Given the description of an element on the screen output the (x, y) to click on. 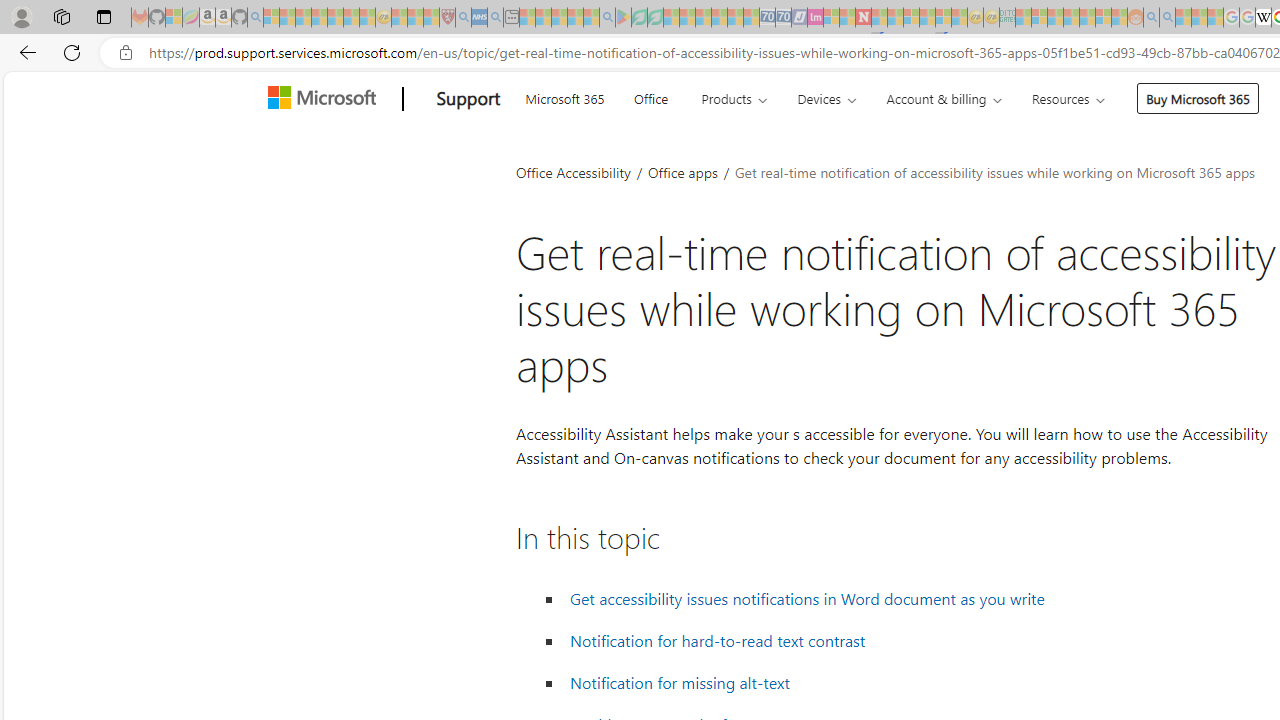
Office Accessibility (573, 172)
Office (650, 96)
